Given the description of an element on the screen output the (x, y) to click on. 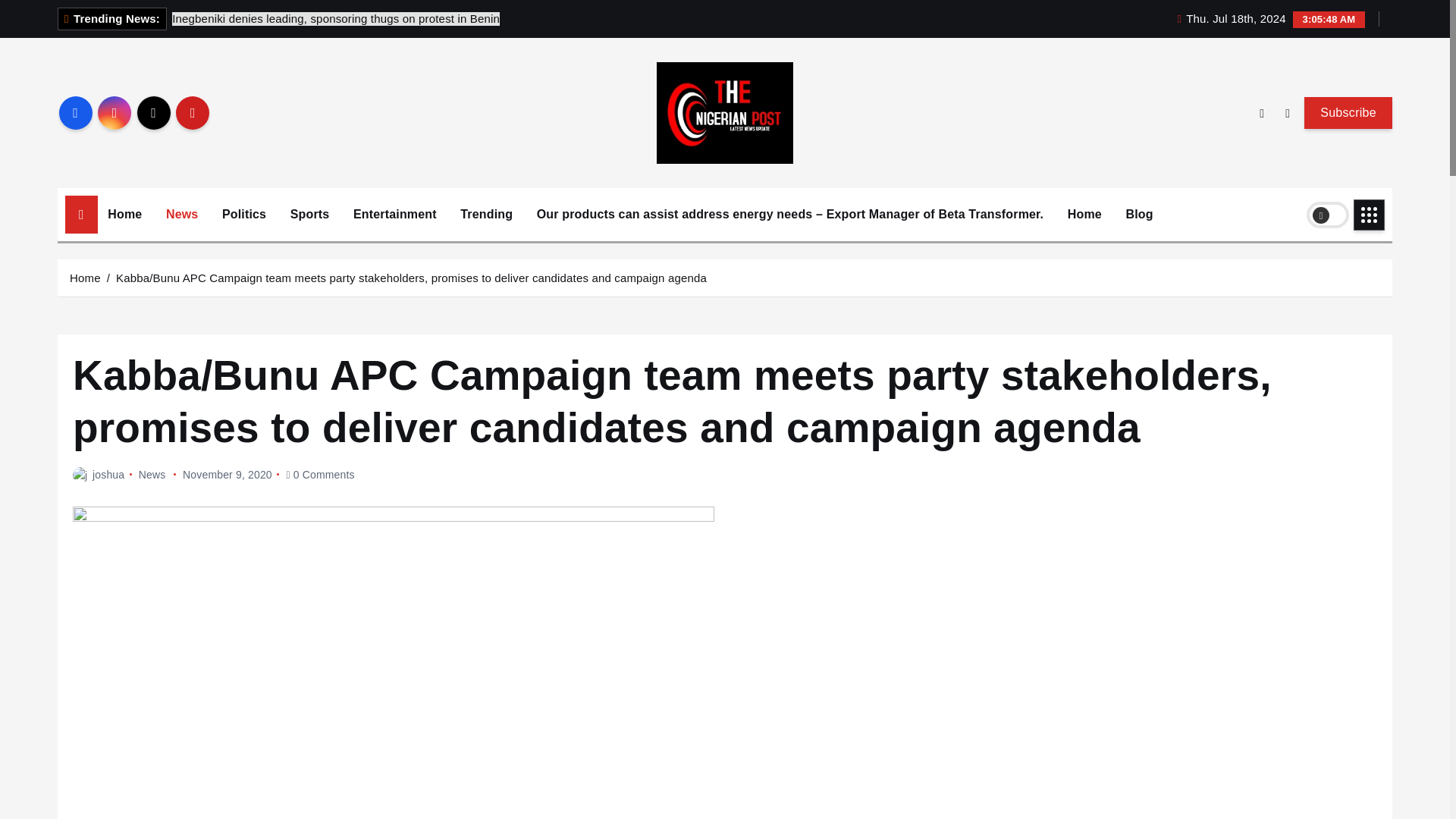
Politics (244, 214)
Trending (485, 214)
Entertainment (394, 214)
News (181, 214)
Home (1085, 214)
Home (124, 214)
Blog (1139, 214)
Blog (1139, 214)
Trending (485, 214)
News (181, 214)
Sports (310, 214)
Sports (310, 214)
Home (124, 214)
Subscribe (1347, 112)
Politics (244, 214)
